Given the description of an element on the screen output the (x, y) to click on. 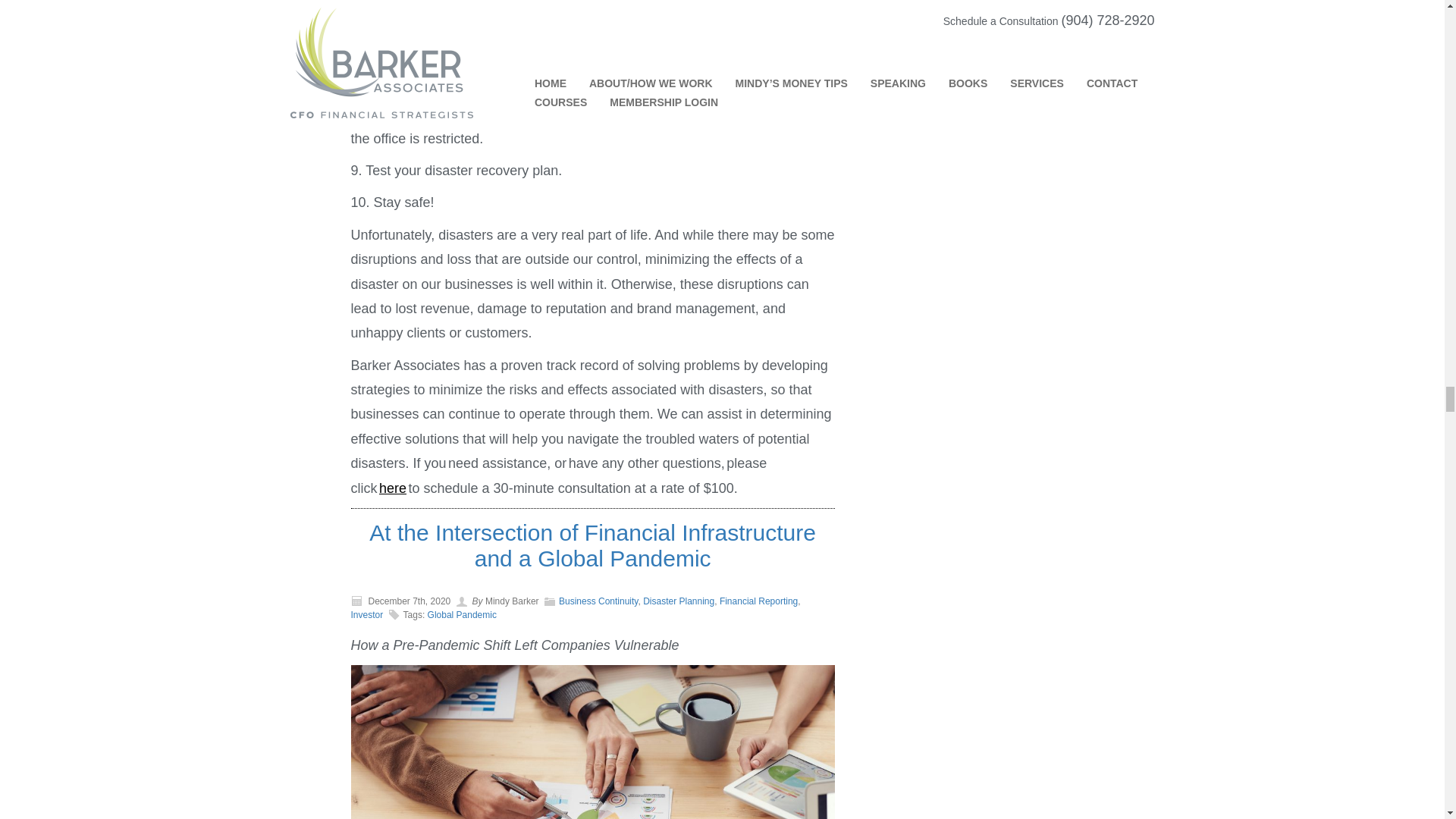
Read more (592, 545)
